Given the description of an element on the screen output the (x, y) to click on. 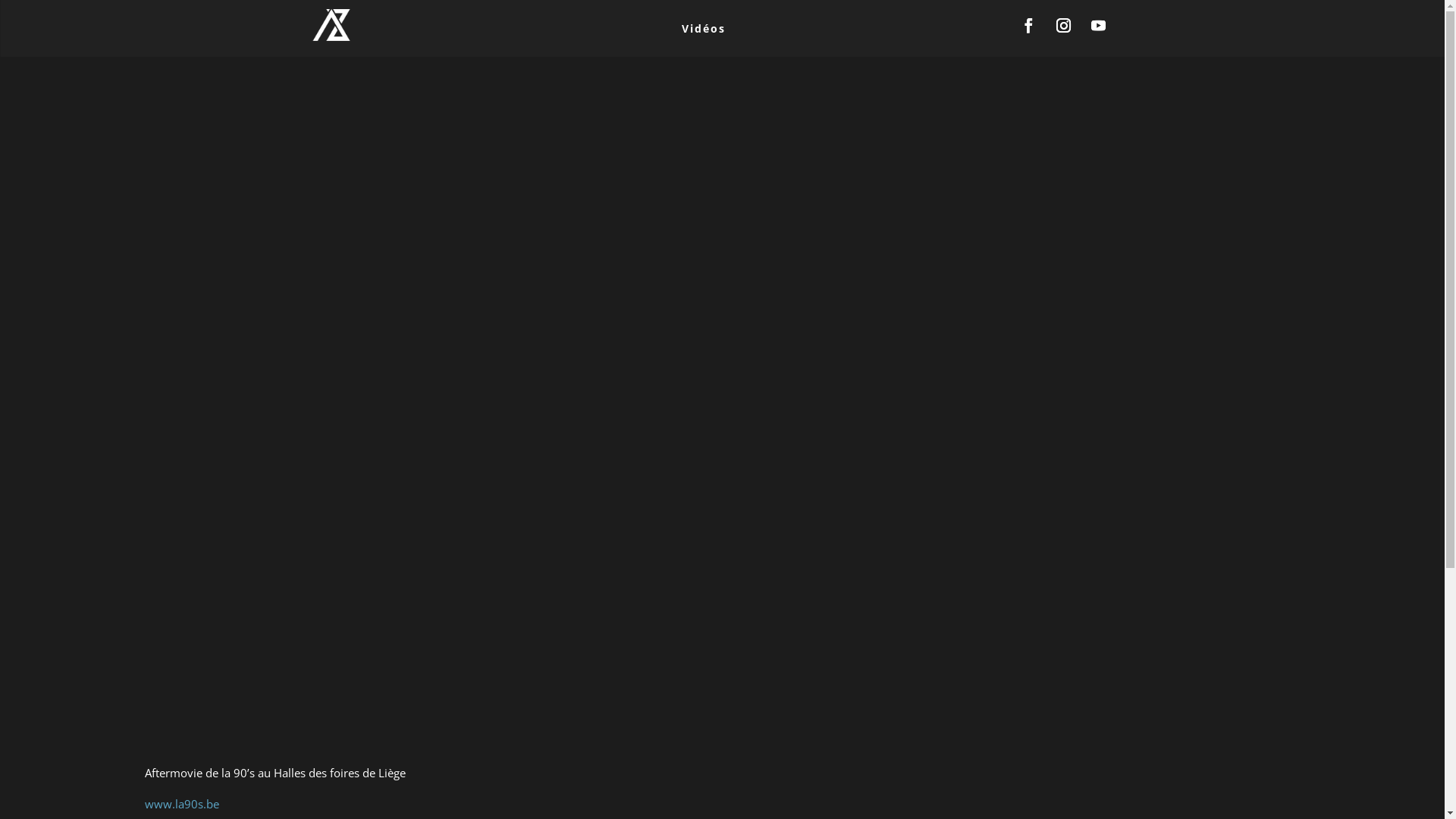
www.la90s.be Element type: text (181, 803)
Follow on Instagram Element type: hover (1062, 25)
Follow on Facebook Element type: hover (1027, 25)
Follow on Youtube Element type: hover (1097, 25)
